Given the description of an element on the screen output the (x, y) to click on. 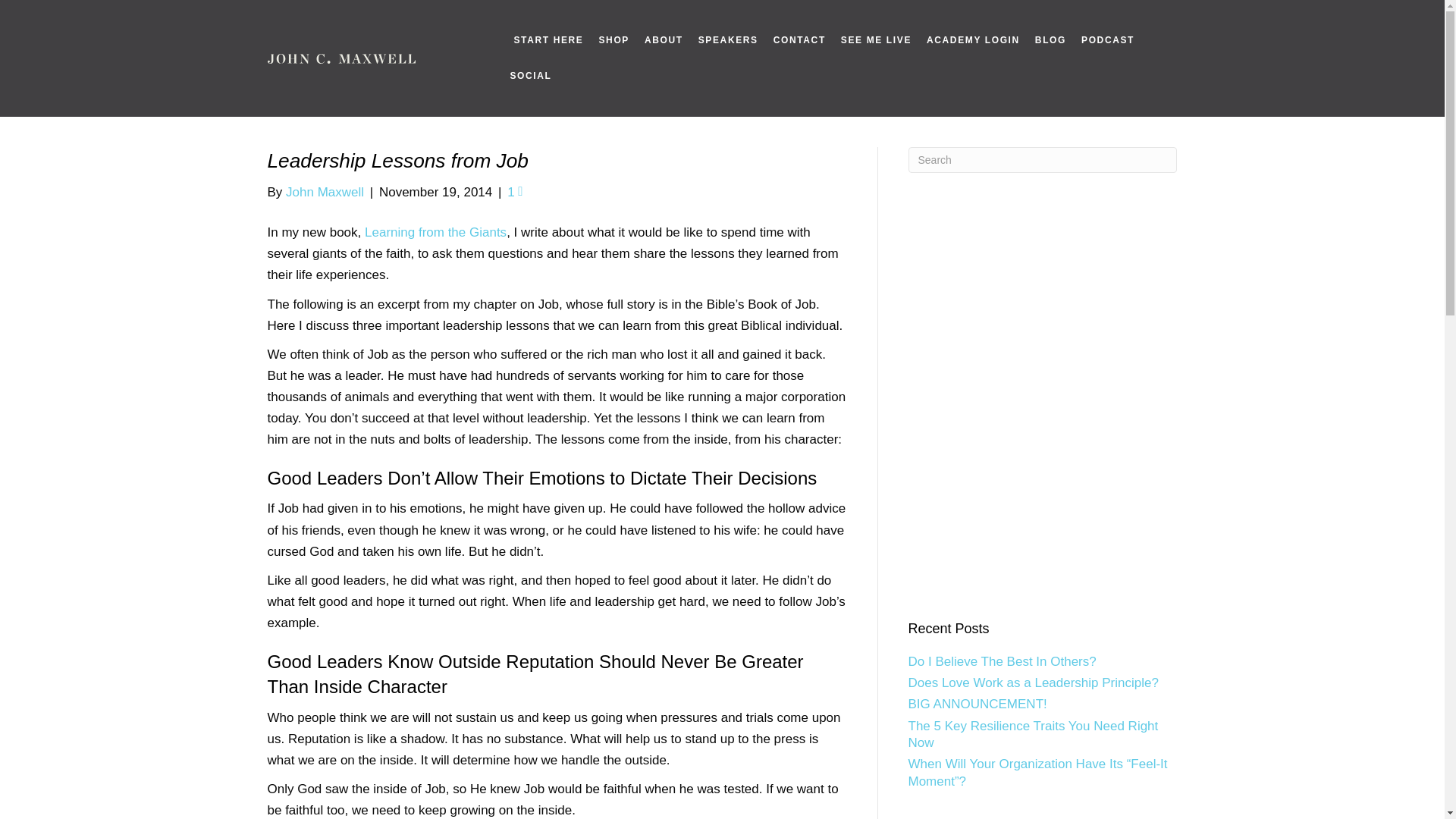
SEE ME LIVE (875, 40)
John Maxwell (324, 192)
SOCIAL (531, 76)
ABOUT (663, 40)
BLOG (1050, 40)
START HERE (548, 40)
Type and press Enter to search. (1042, 159)
1 (514, 192)
The 5 Key Resilience Traits You Need Right Now (1033, 734)
SPEAKERS (727, 40)
Do I Believe The Best In Others? (1002, 661)
ACADEMY LOGIN (972, 40)
CONTACT (798, 40)
Learning from the Giants (435, 232)
Does Love Work as a Leadership Principle? (1033, 682)
